Given the description of an element on the screen output the (x, y) to click on. 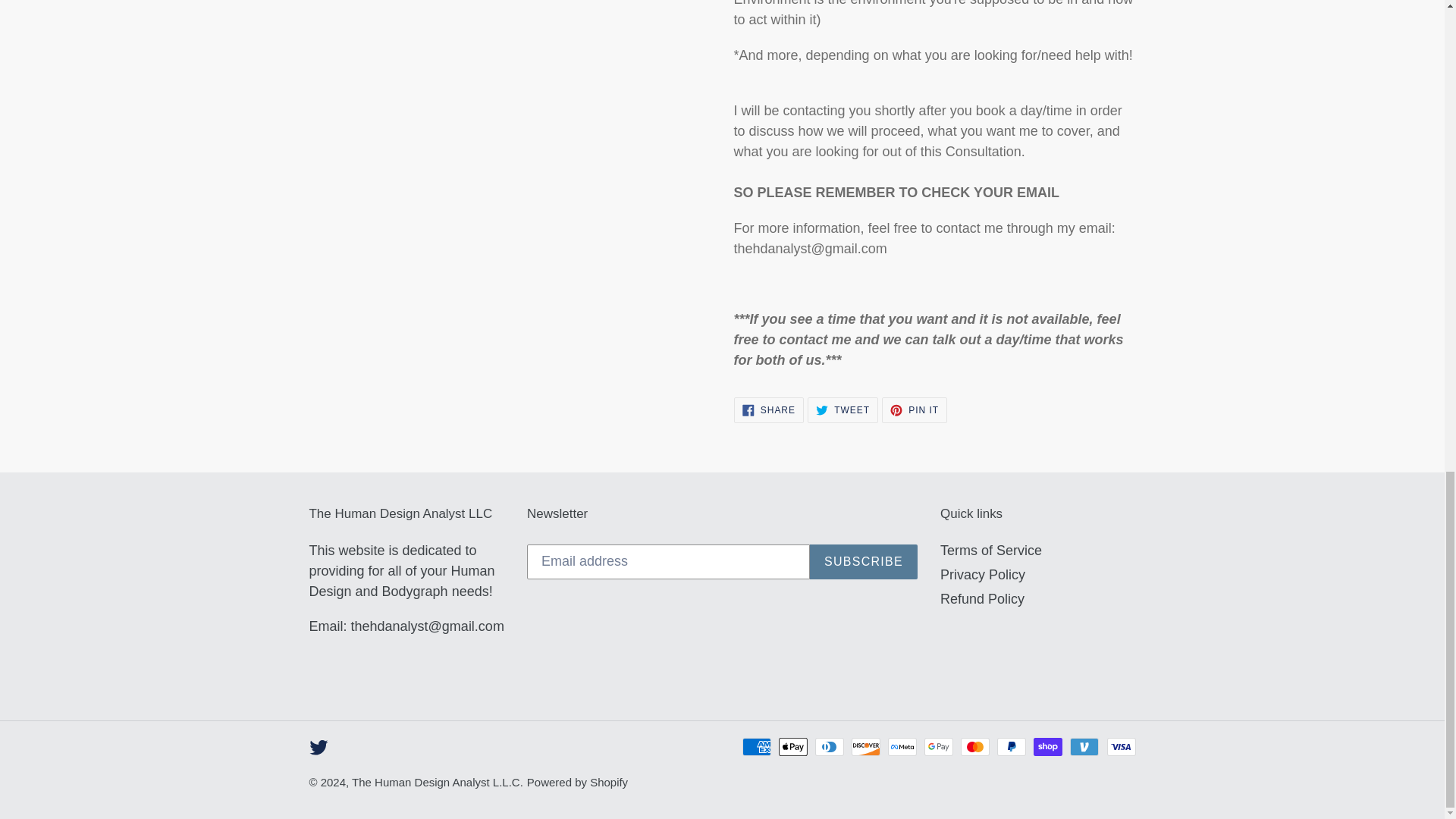
SUBSCRIBE (863, 561)
Twitter (318, 747)
Privacy Policy (982, 574)
Terms of Service (914, 410)
Refund Policy (991, 549)
The Human Design Analyst L.L.C. (982, 598)
